Given the description of an element on the screen output the (x, y) to click on. 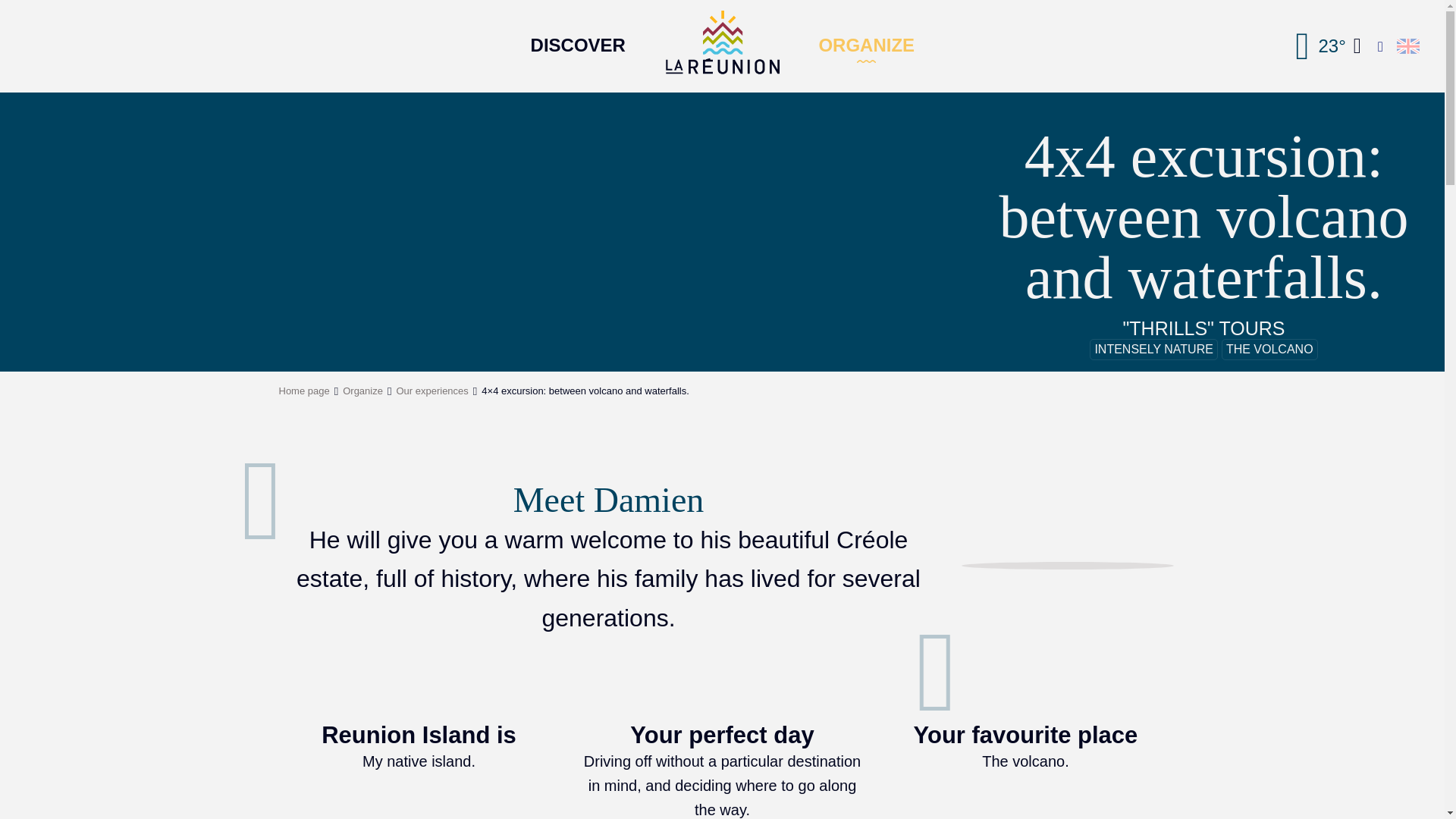
Our experiences (431, 390)
Organize (362, 390)
Home page (304, 390)
DISCOVER (577, 41)
